Given the description of an element on the screen output the (x, y) to click on. 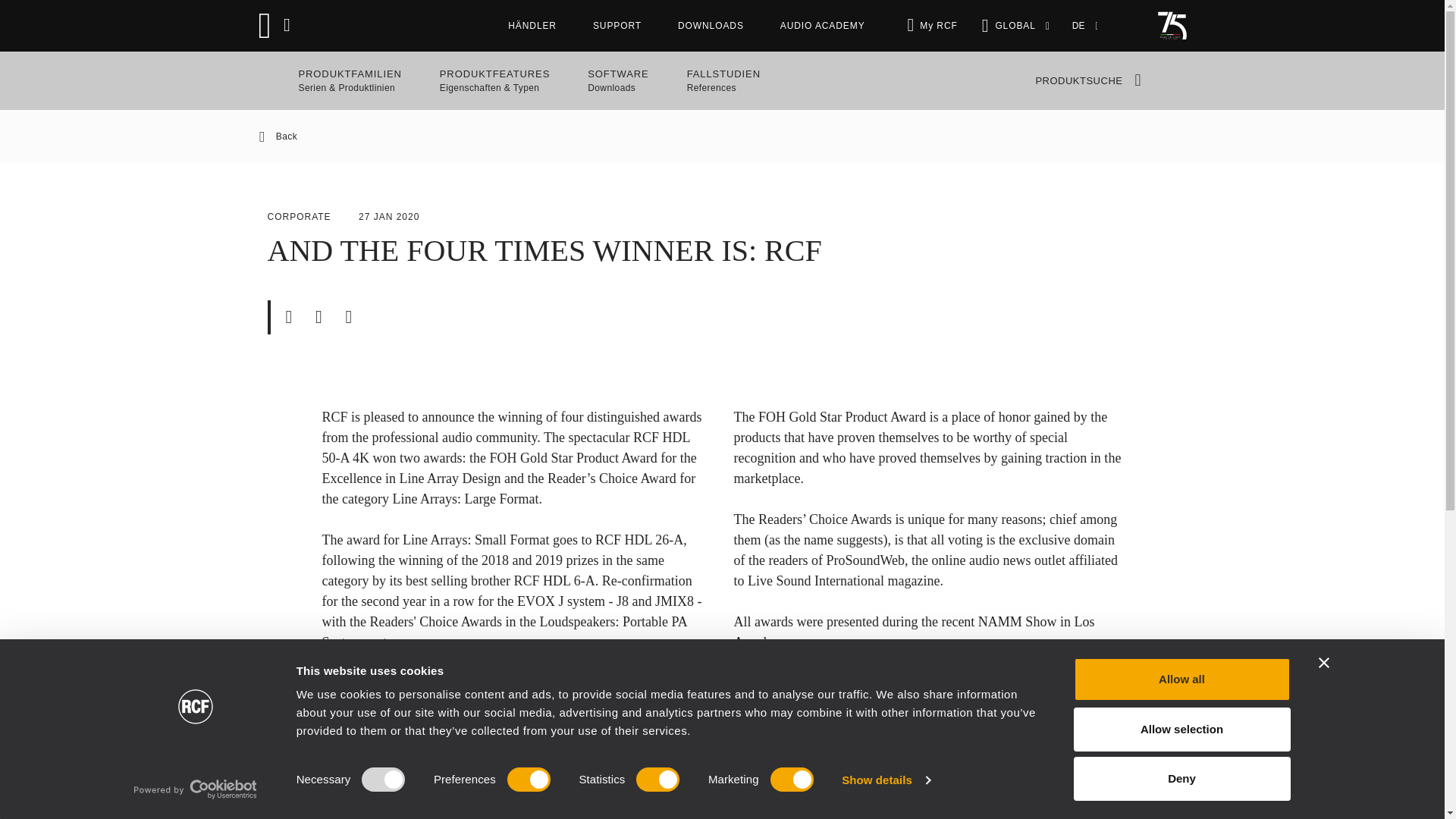
Show details (885, 780)
